Given the description of an element on the screen output the (x, y) to click on. 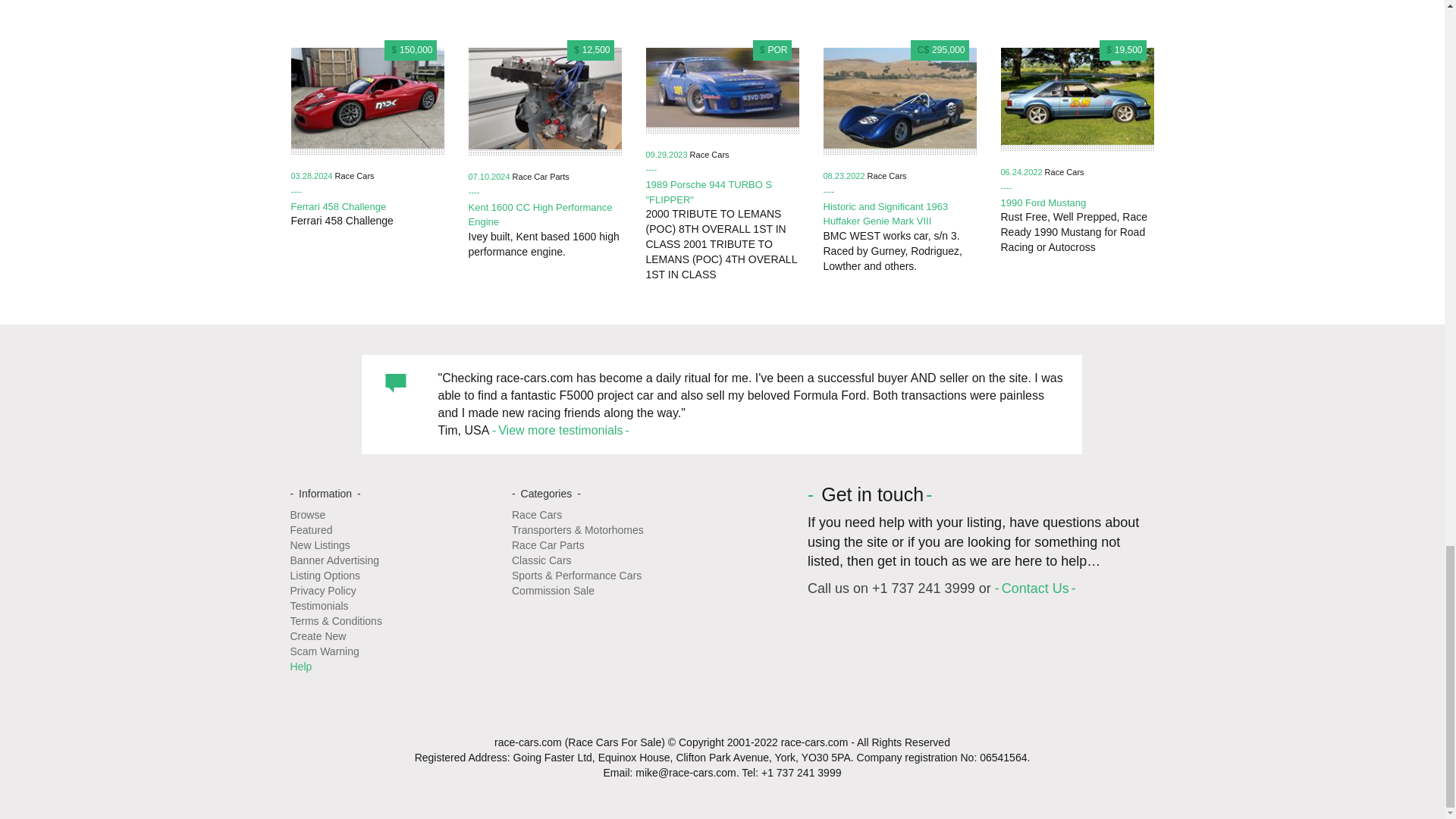
Historic and Significant 1963 Huffaker Genie Mark VIII (886, 213)
New Listings (319, 544)
Kent 1600 CC High Performance Engine (540, 214)
1990 Ford Mustang (1043, 202)
Banner Advertising (333, 560)
1989 Porsche 944 TURBO S "FLIPPER" (709, 192)
Featured (310, 530)
Listing Options (324, 575)
Browse (306, 514)
Ferrari 458 Challenge (339, 206)
View more testimonials (560, 430)
